Given the description of an element on the screen output the (x, y) to click on. 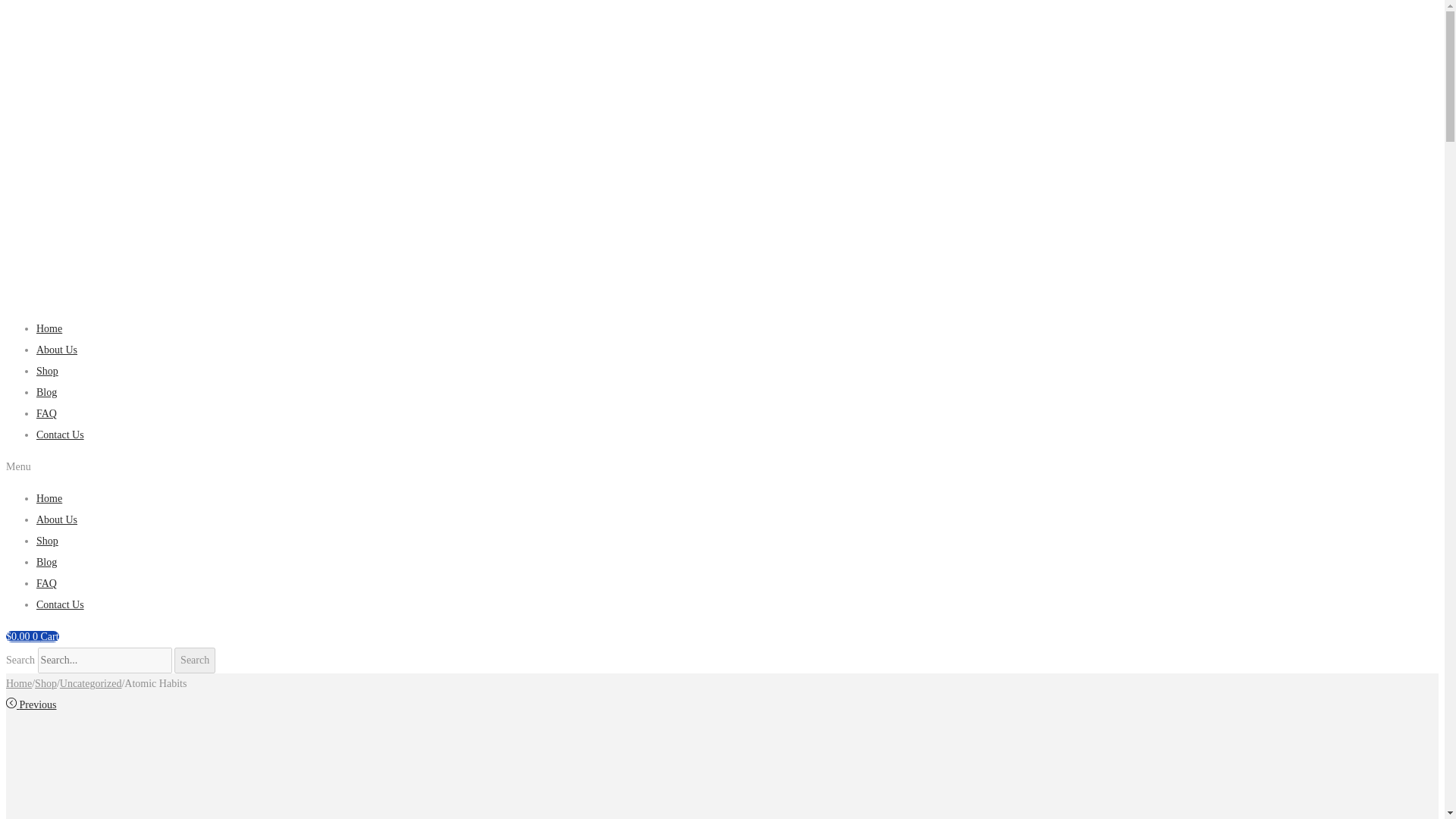
Uncategorized (90, 683)
Contact Us (60, 434)
About Us (56, 519)
Home (18, 683)
Shop (45, 683)
Blog (46, 562)
About Us (56, 349)
Shop (47, 370)
Shop (47, 541)
FAQ (46, 413)
